Given the description of an element on the screen output the (x, y) to click on. 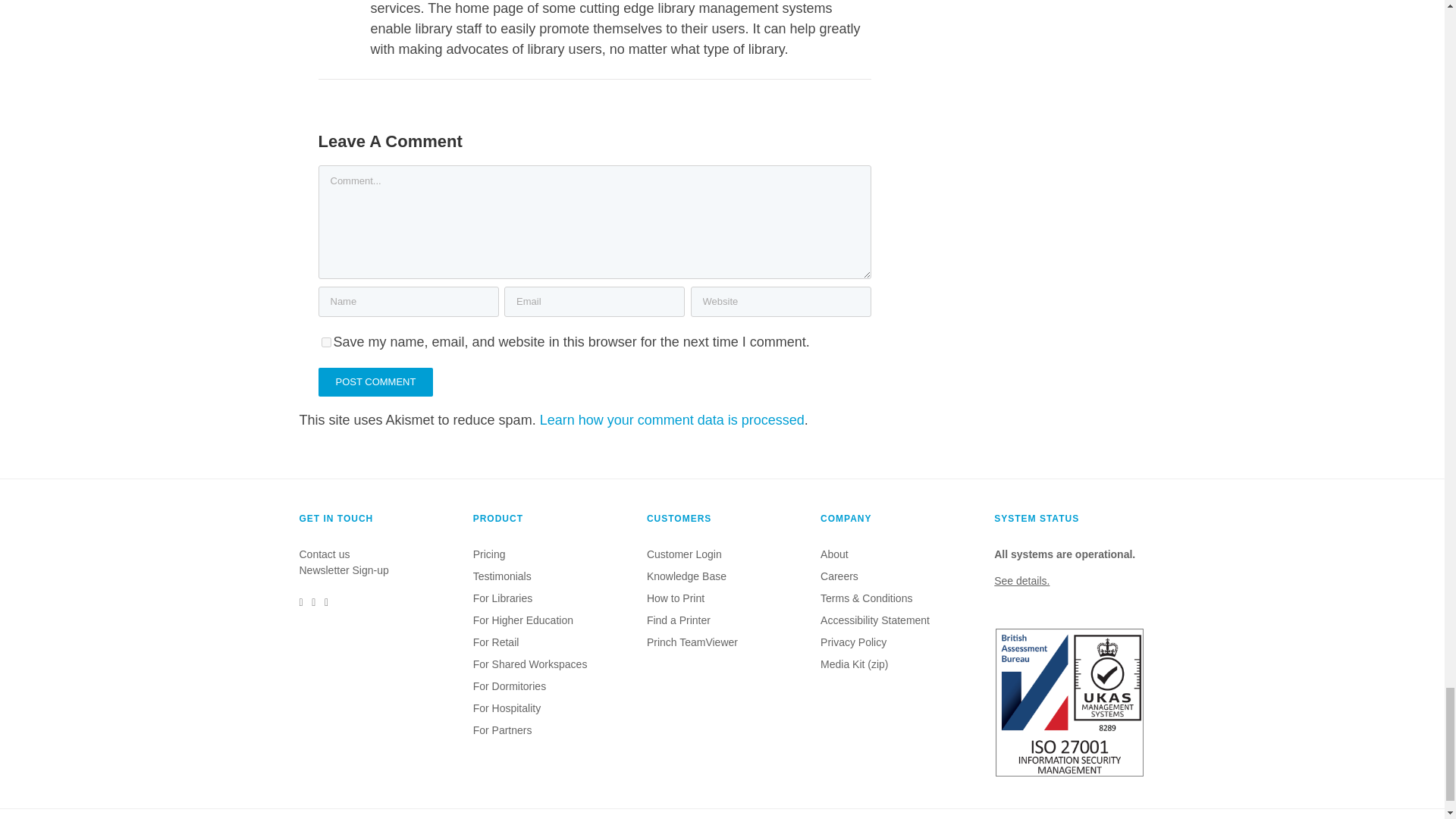
yes (326, 342)
Post Comment (375, 381)
